Given the description of an element on the screen output the (x, y) to click on. 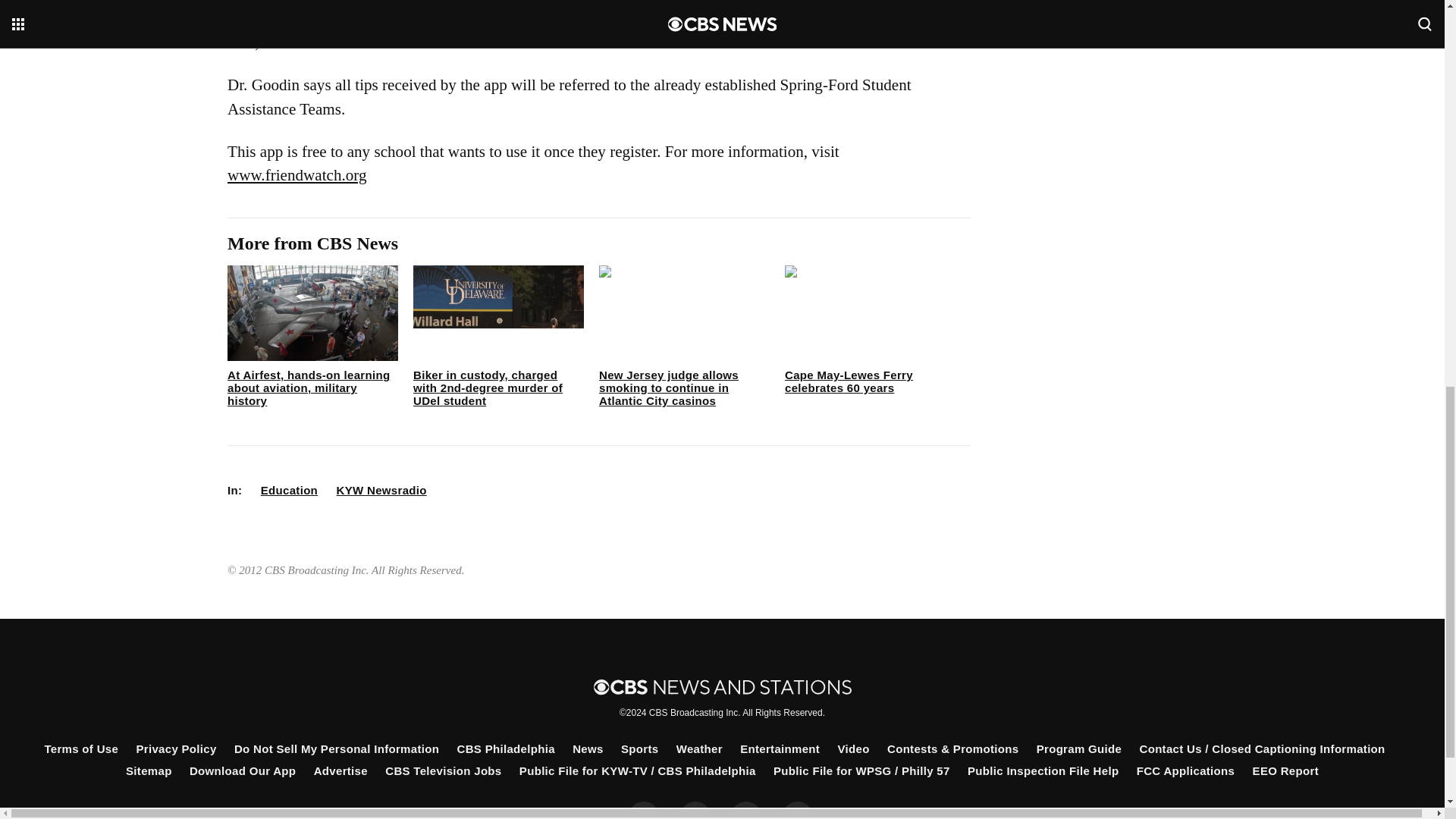
instagram (745, 810)
youtube (797, 810)
facebook (643, 810)
twitter (694, 810)
